Given the description of an element on the screen output the (x, y) to click on. 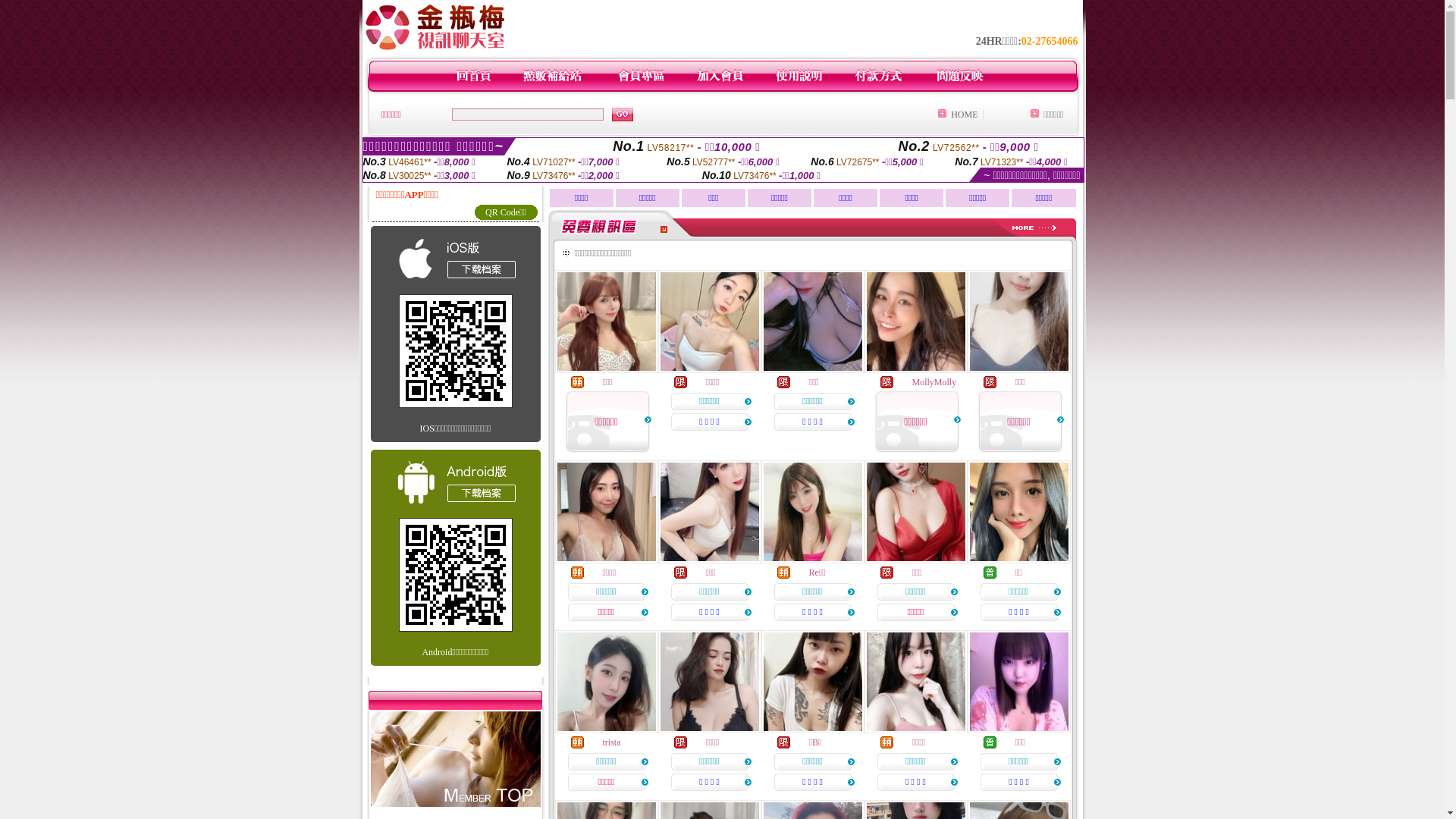
trista Element type: text (611, 742)
MollyMolly Element type: text (933, 381)
HOME Element type: text (963, 114)
